Given the description of an element on the screen output the (x, y) to click on. 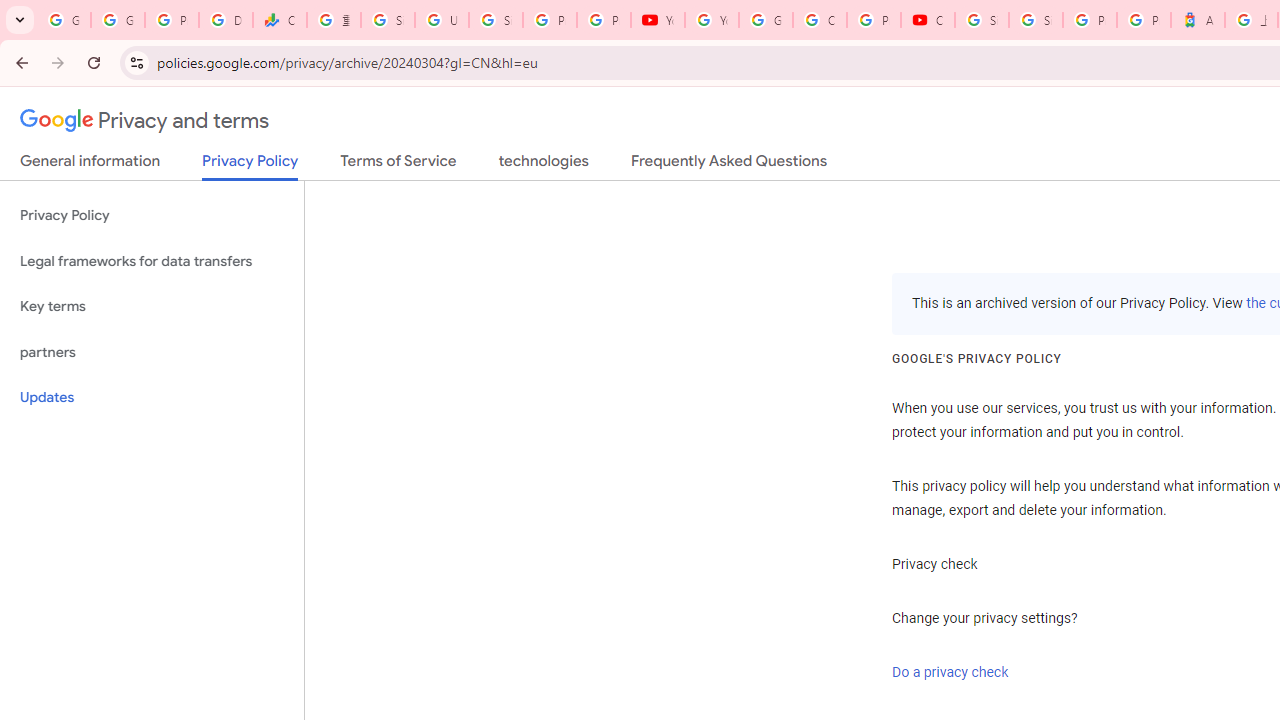
Content Creator Programs & Opportunities - YouTube Creators (927, 20)
YouTube (711, 20)
Google Workspace Admin Community (63, 20)
General information (90, 165)
Atour Hotel - Google hotels (1197, 20)
